Given the description of an element on the screen output the (x, y) to click on. 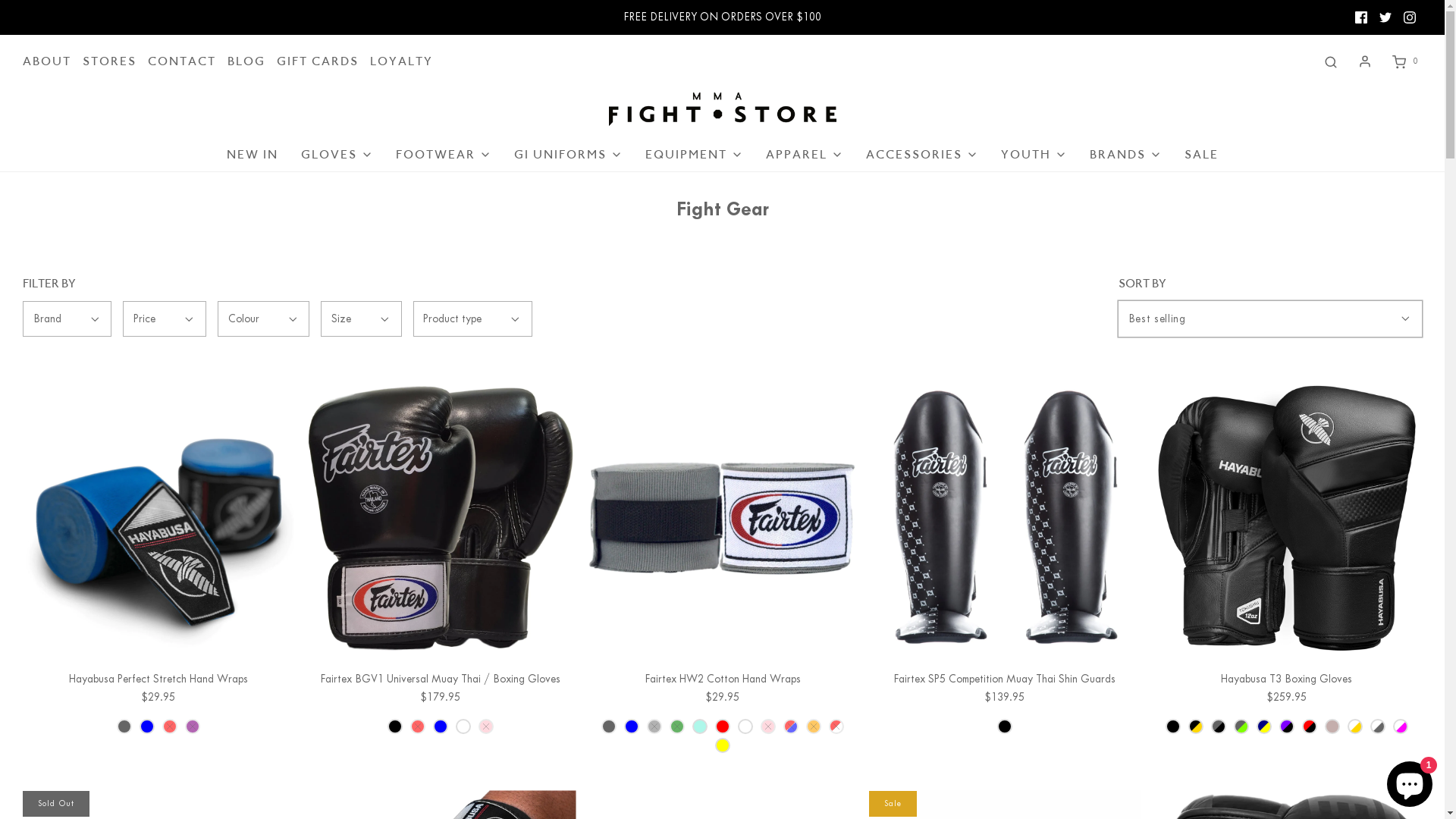
NEW IN Element type: text (251, 154)
ABOUT Element type: text (46, 61)
GI UNIFORMS Element type: text (568, 154)
Hayabusa T3 Boxing Gloves
$259.95 Element type: text (1286, 702)
Fairtex SP5 Competition Muay Thai Shin Guards Element type: hover (1004, 517)
LOYALTY Element type: text (401, 61)
GIFT CARDS Element type: text (317, 61)
0 Element type: text (1403, 61)
Shopify online store chat Element type: hover (1409, 780)
Log in Element type: hover (1364, 61)
BRANDS Element type: text (1124, 154)
EQUIPMENT Element type: text (693, 154)
BLOG Element type: text (246, 61)
APPAREL Element type: text (804, 154)
CONTACT Element type: text (181, 61)
SALE Element type: text (1201, 154)
FOOTWEAR Element type: text (443, 154)
Fairtex SP5 Competition Muay Thai Shin Guards
$139.95 Element type: text (1004, 702)
Instagram icon Element type: text (1409, 17)
Hayabusa Perfect Stretch Hand Wraps Element type: hover (157, 517)
YOUTH Element type: text (1033, 154)
STORES Element type: text (109, 61)
Search Element type: hover (1330, 61)
Hayabusa T3 Boxing Gloves Element type: hover (1286, 517)
Fairtex BGV1 Universal Muay Thai / Boxing Gloves Element type: hover (439, 517)
Fairtex HW2 Cotton Hand Wraps Element type: hover (721, 517)
Fairtex HW2 Cotton Hand Wraps
$29.95 Element type: text (721, 712)
GLOVES Element type: text (336, 154)
Twitter icon Element type: text (1385, 17)
ACCESSORIES Element type: text (922, 154)
Fairtex BGV1 Universal Muay Thai / Boxing Gloves
$179.95 Element type: text (439, 702)
Facebook icon Element type: text (1361, 17)
Hayabusa Perfect Stretch Hand Wraps
$29.95 Element type: text (157, 702)
